Given the description of an element on the screen output the (x, y) to click on. 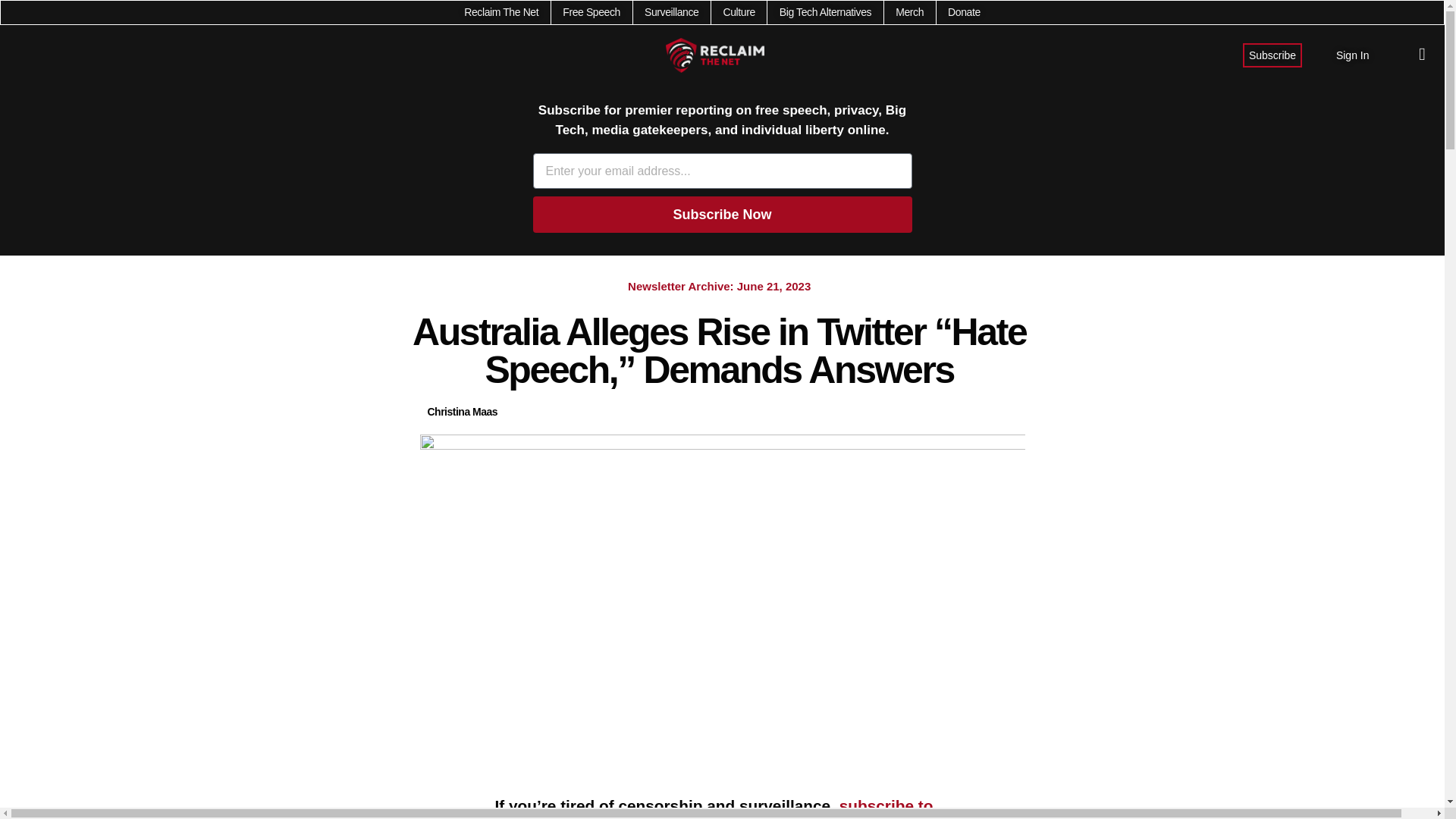
Merch (909, 12)
Christina Maas (462, 412)
Reclaim The Net (501, 12)
Subscribe (1272, 55)
Free Speech (591, 12)
Big Tech Alternatives (824, 12)
Sign In (1353, 55)
Subscribe Now (721, 214)
subscribe to Reclaim The Net. (714, 807)
Surveillance (671, 12)
Donate (963, 12)
Culture (738, 12)
